Given the description of an element on the screen output the (x, y) to click on. 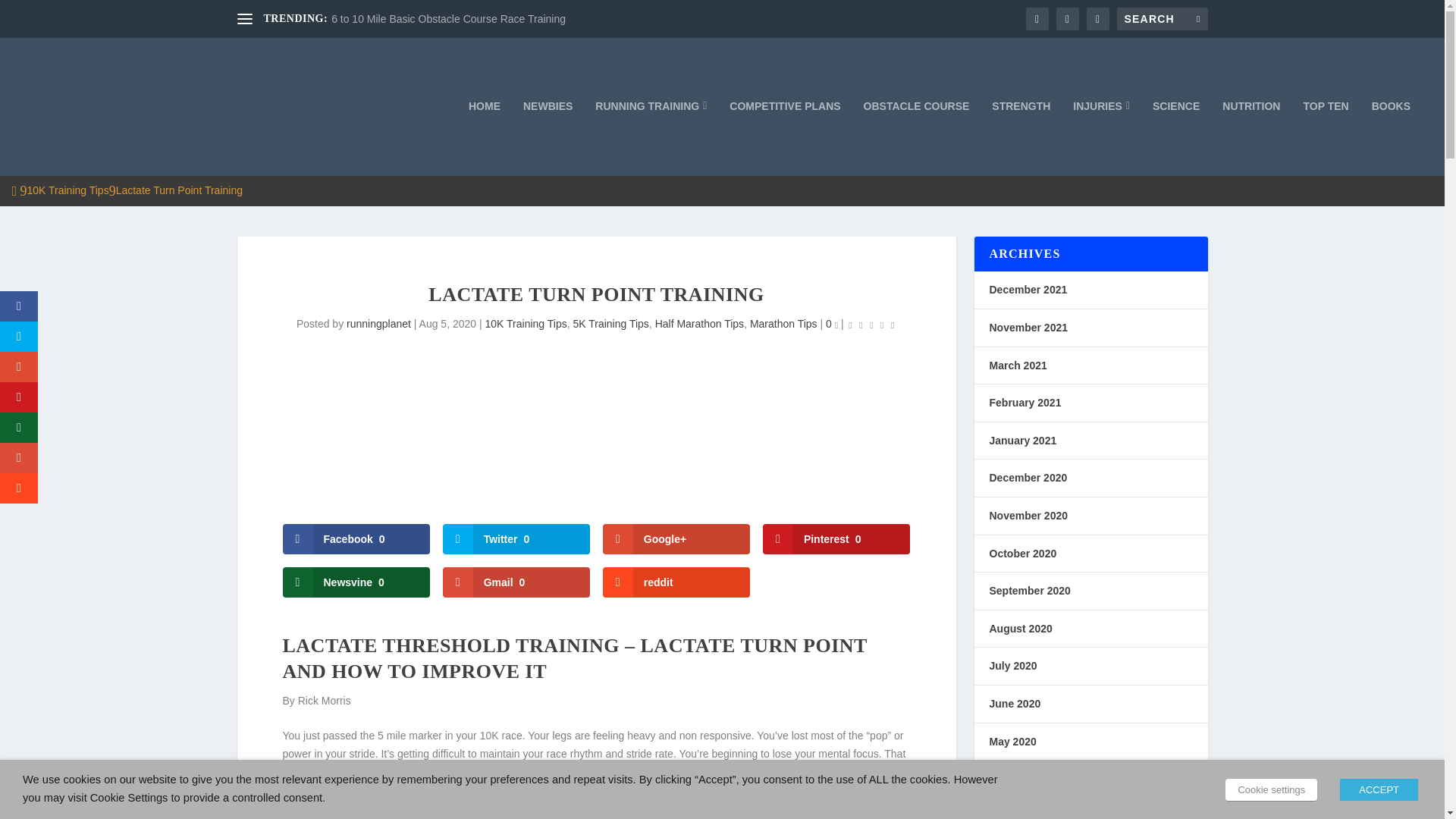
Rating: 0.00 (871, 324)
OBSTACLE COURSE (916, 137)
RUNNING TRAINING (650, 137)
Search for: (1161, 18)
Posts by runningplanet (378, 323)
COMPETITIVE PLANS (784, 137)
6 to 10 Mile Basic Obstacle Course Race Training (448, 19)
